Given the description of an element on the screen output the (x, y) to click on. 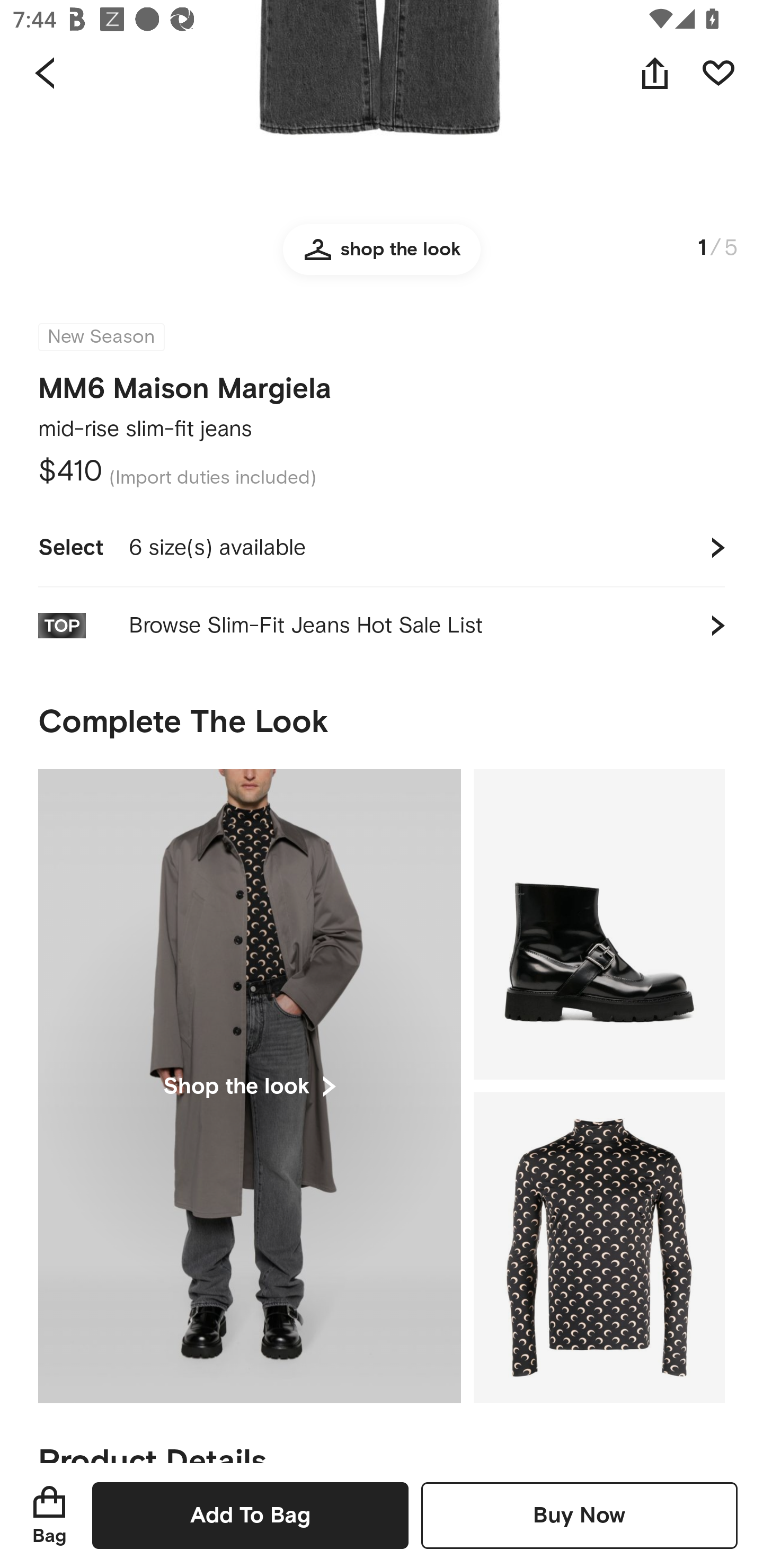
shop the look (381, 257)
MM6 Maison Margiela (184, 389)
Select 6 size(s) available (381, 547)
Browse Slim-Fit Jeans Hot Sale List (381, 625)
Bag (49, 1515)
Add To Bag (250, 1515)
Buy Now (579, 1515)
